Given the description of an element on the screen output the (x, y) to click on. 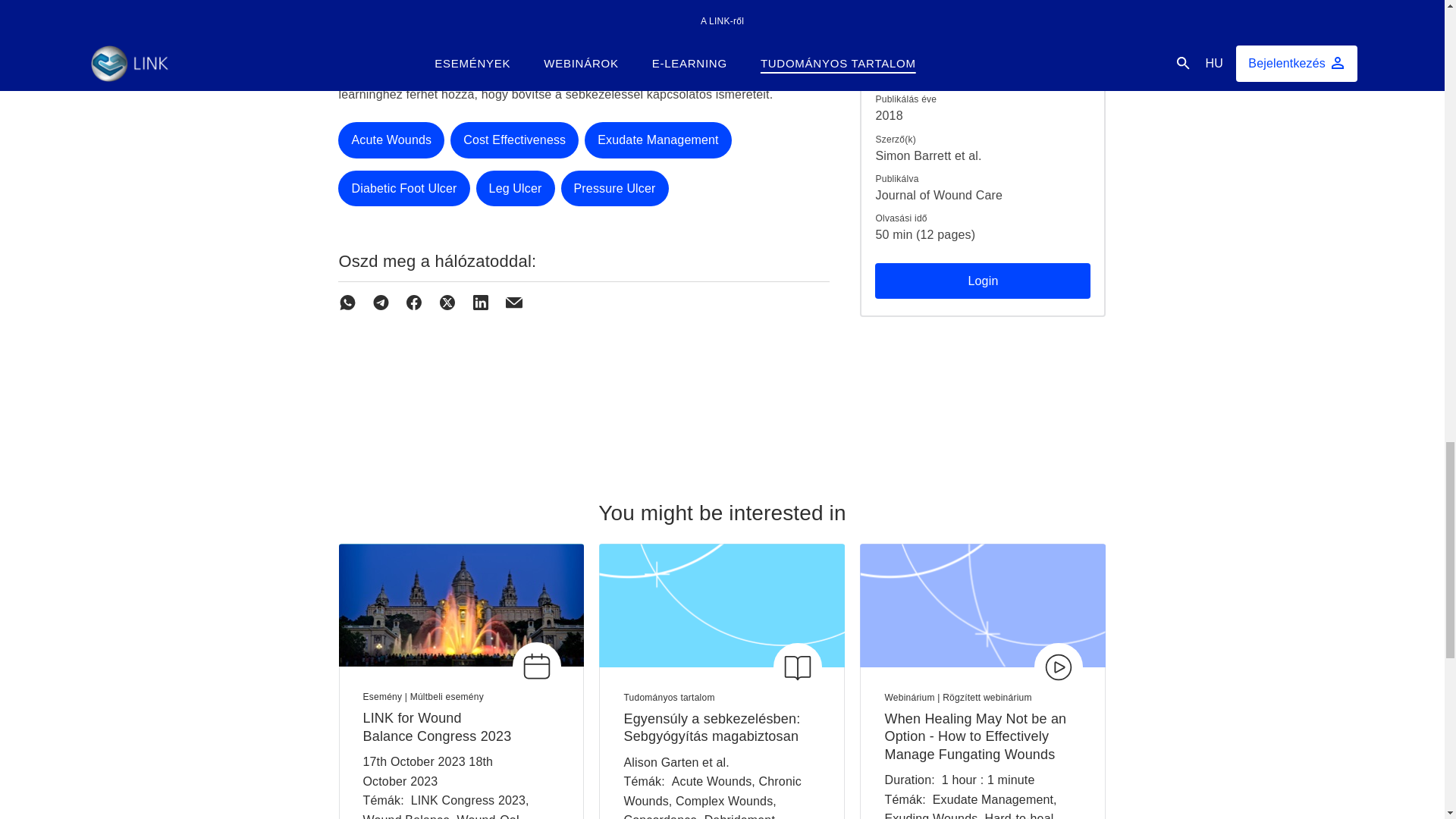
Pressure Ulcer (614, 188)
Exudate Management (657, 140)
Leg Ulcer (515, 188)
Acute Wounds (390, 140)
Diabetic Foot Ulcer (402, 188)
Cost Effectiveness (513, 140)
